Given the description of an element on the screen output the (x, y) to click on. 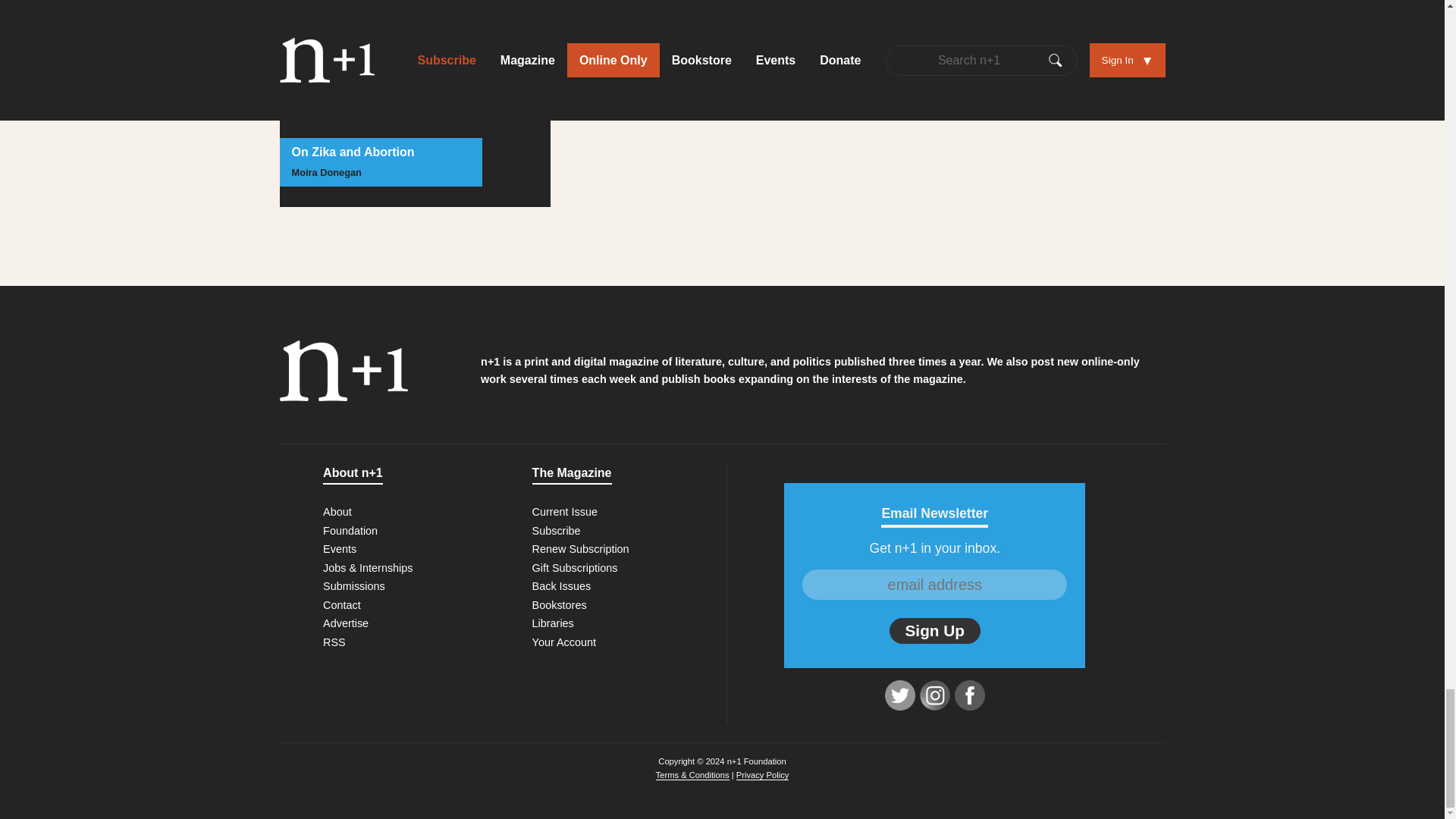
Submissions (354, 585)
Instagram (935, 695)
Foundation (350, 530)
Facebook (970, 695)
About (337, 511)
Events (339, 548)
Twitter (900, 695)
Sign Up (934, 630)
